Given the description of an element on the screen output the (x, y) to click on. 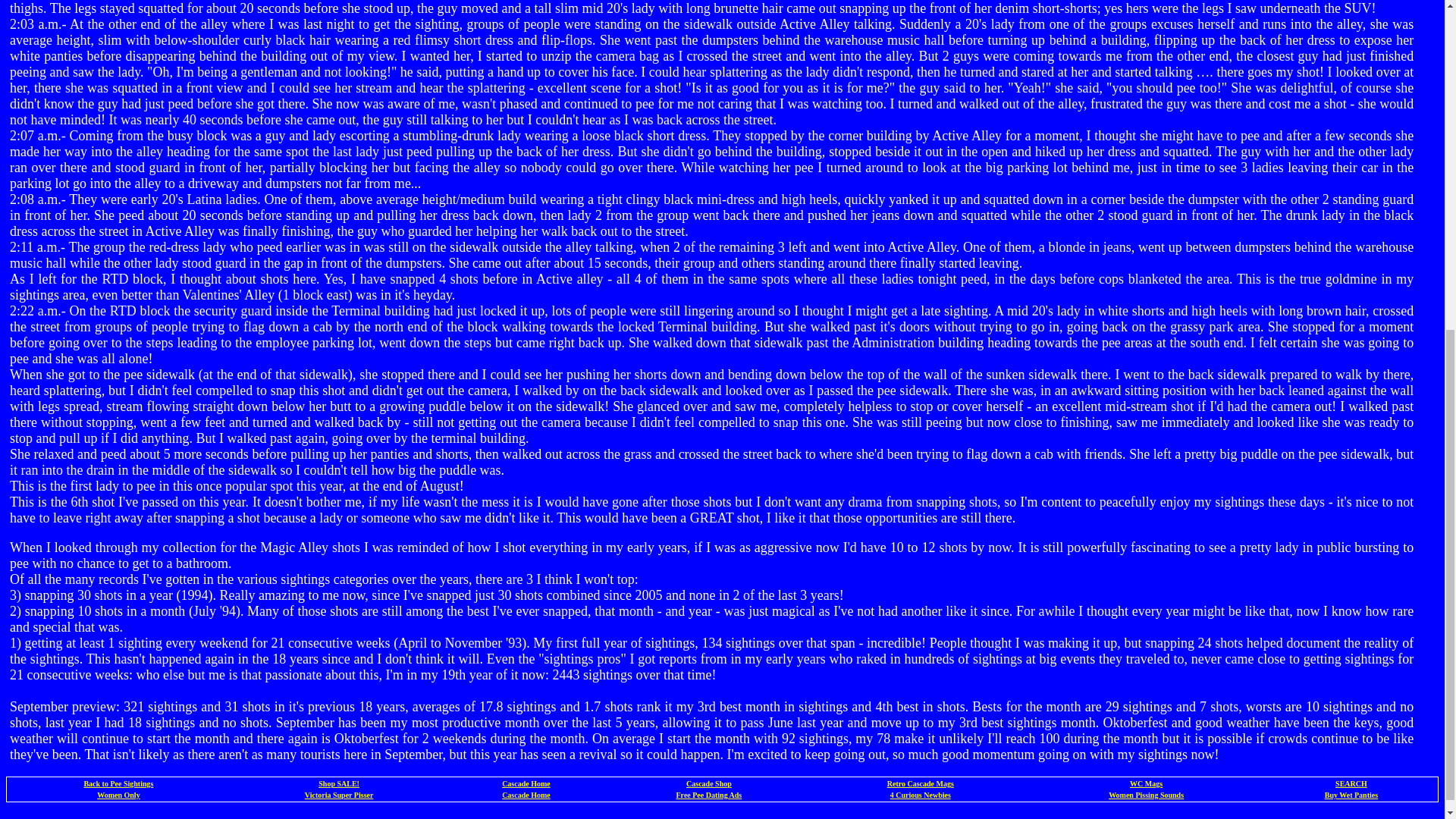
Women Pissing Sounds (1145, 795)
Cascade Home (526, 783)
SEARCH (1351, 783)
WC Mags (1145, 783)
Cascade Shop (708, 783)
4 Curious Newbies (919, 795)
Free Pee Dating Ads (709, 795)
Cascade Home (526, 795)
Women Only (118, 795)
Victoria Super Pisser (339, 795)
Shop SALE! (338, 783)
Retro Cascade Mags (919, 783)
Buy Wet Panties (1350, 795)
Back to Pee Sightings (117, 783)
